Given the description of an element on the screen output the (x, y) to click on. 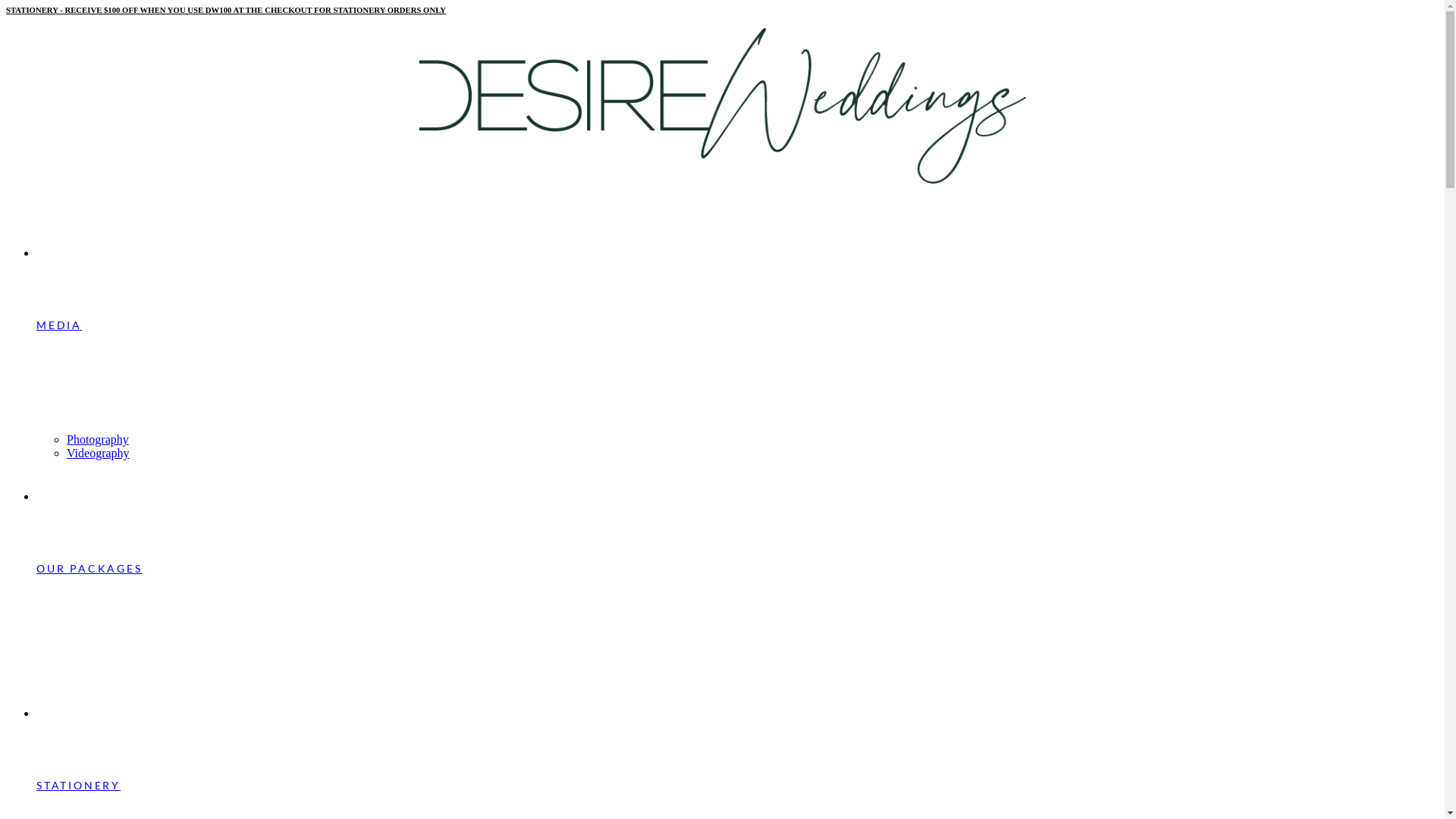
Skip to content Element type: text (6, 6)
Videography Element type: text (752, 453)
Photography Element type: text (752, 439)
MEDIA Element type: text (737, 366)
OUR PACKAGES Element type: text (737, 610)
